Given the description of an element on the screen output the (x, y) to click on. 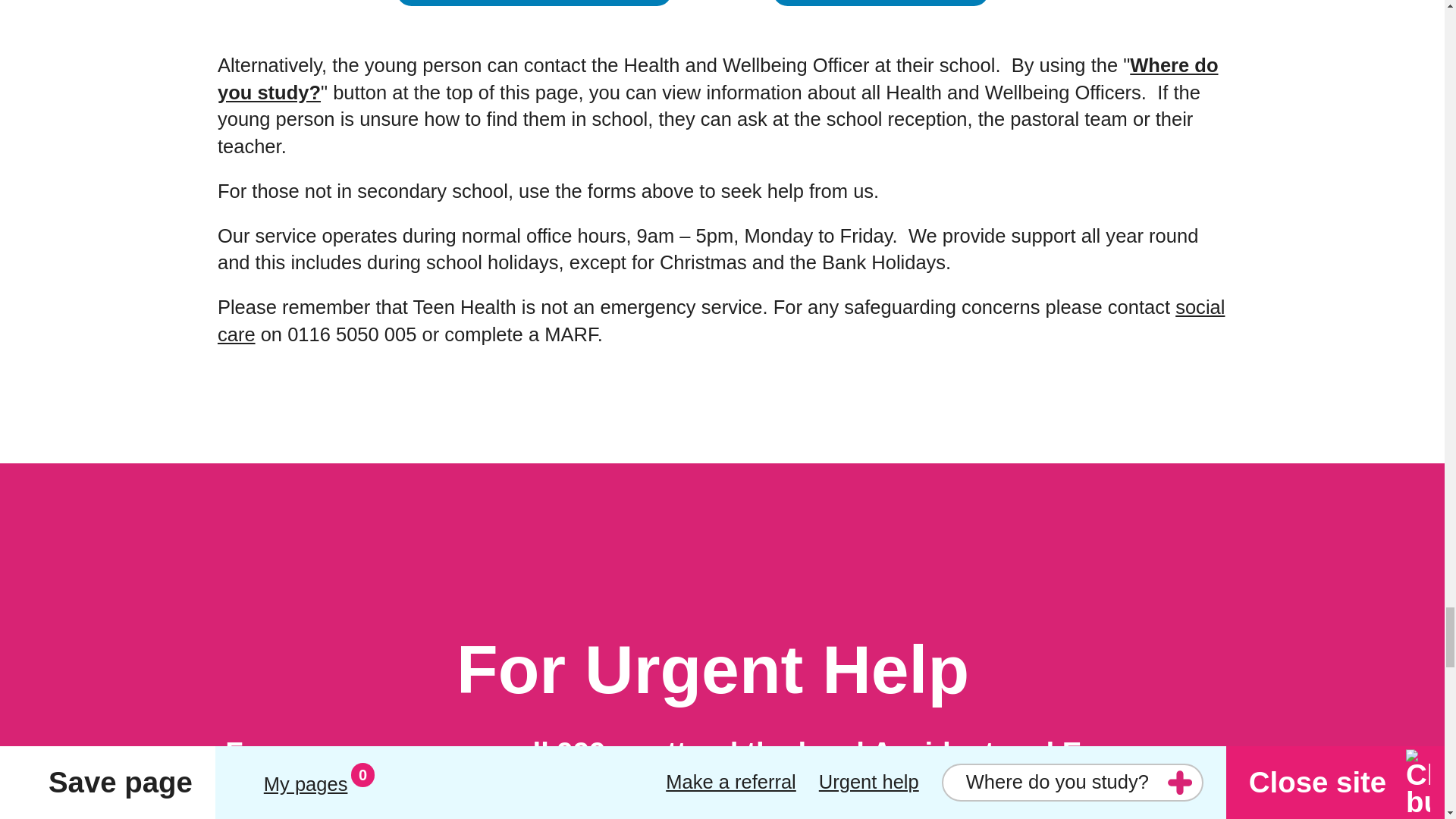
social care (720, 320)
Teen Health Leicestershire (534, 4)
Teen Health Rutland (880, 4)
Where do you study? (717, 78)
